Given the description of an element on the screen output the (x, y) to click on. 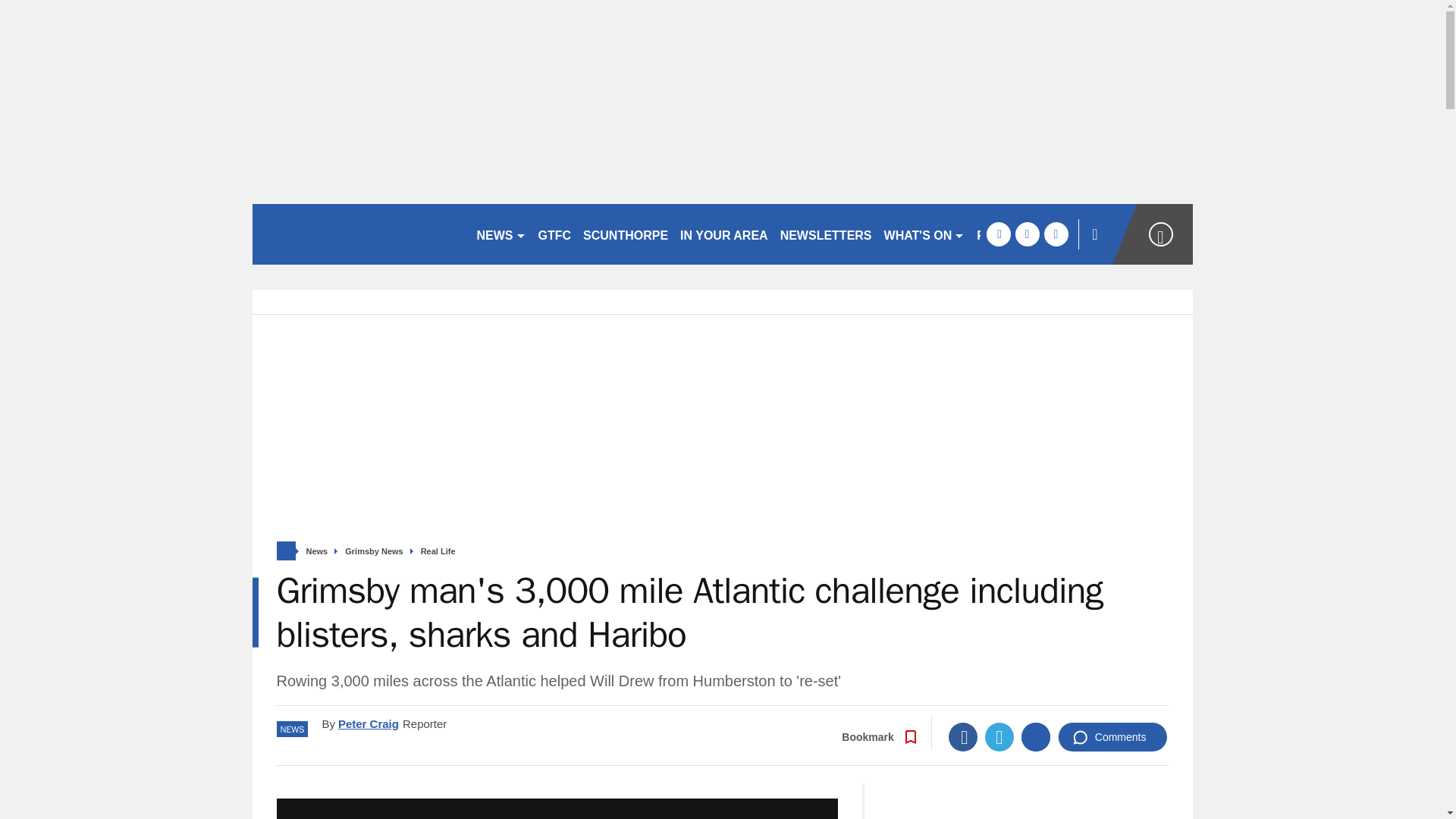
twitter (1026, 233)
instagram (1055, 233)
Twitter (999, 736)
facebook (997, 233)
PARTNER STORIES (1034, 233)
NEWSLETTERS (825, 233)
NEWS (500, 233)
Facebook (962, 736)
WHAT'S ON (924, 233)
Comments (1112, 736)
SCUNTHORPE (625, 233)
IN YOUR AREA (724, 233)
grimsbytelegraph (357, 233)
